Given the description of an element on the screen output the (x, y) to click on. 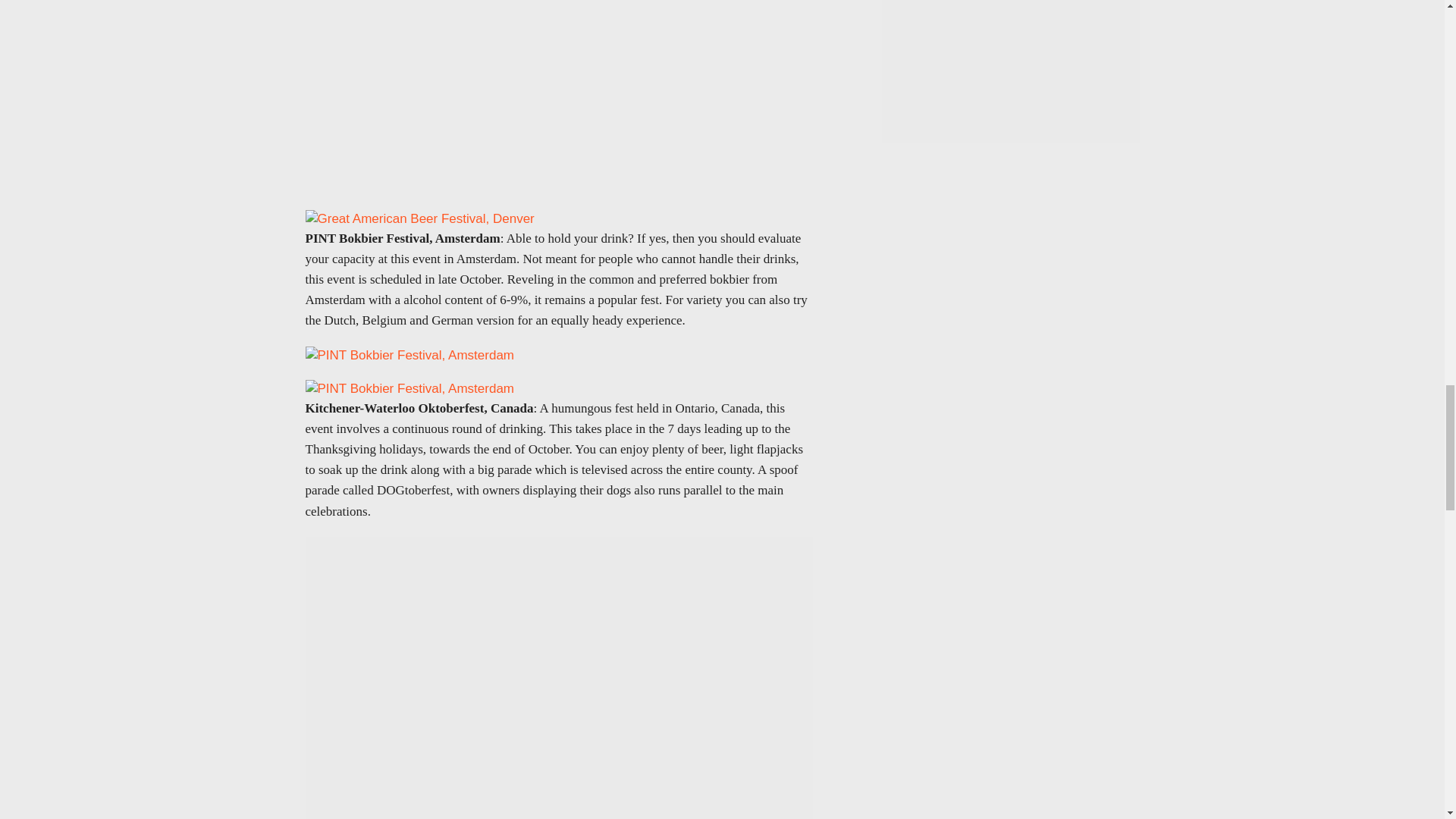
PINT Bokbier Festival, Amsterdam (408, 355)
PINT Bokbier Festival, Amsterdam (408, 389)
Great American Beer Festival, Denver (419, 218)
